Given the description of an element on the screen output the (x, y) to click on. 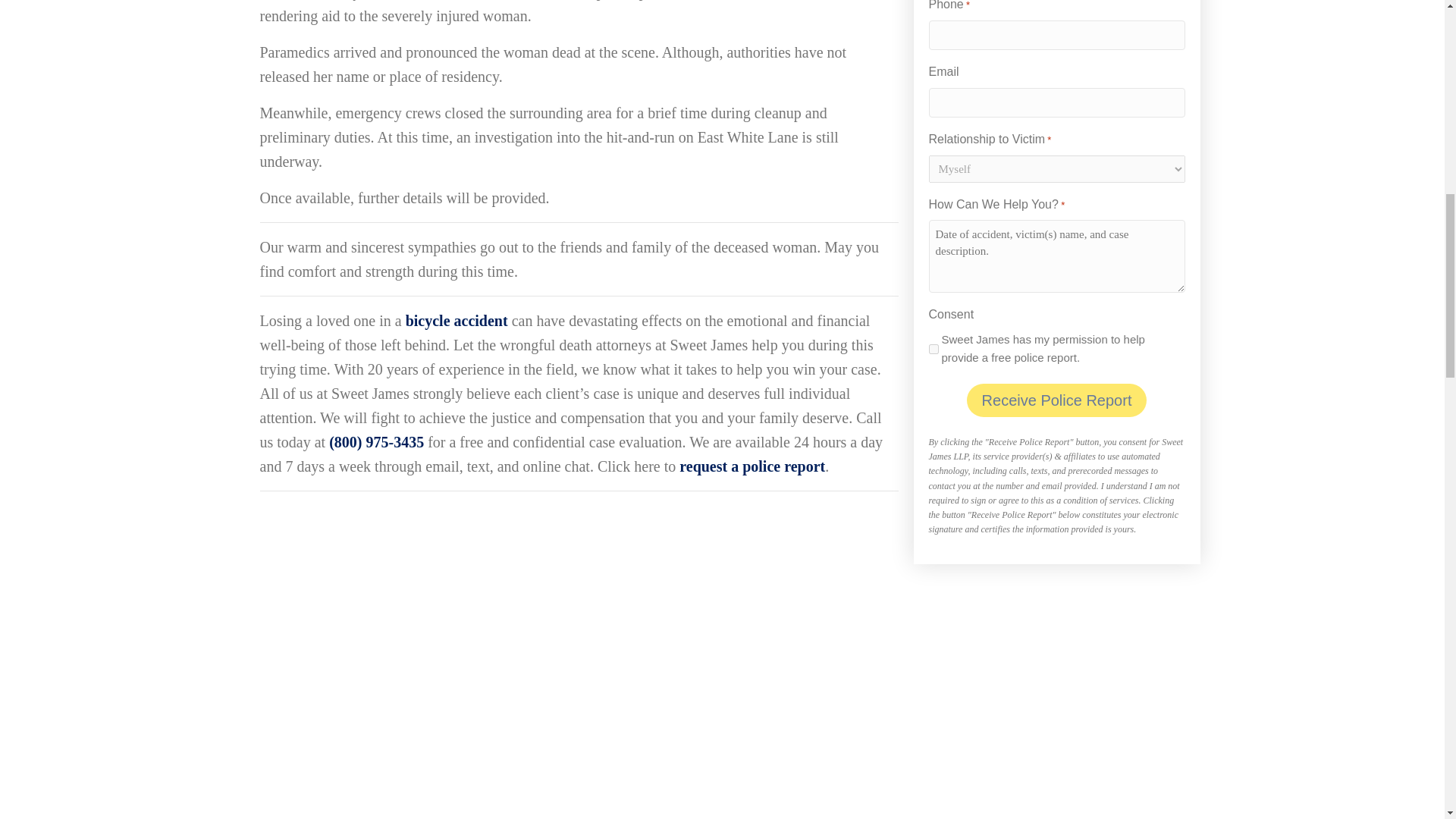
Receive Police Report (1056, 400)
bicycle accident (457, 320)
request a police report (752, 466)
Receive Police Report (1056, 400)
